Given the description of an element on the screen output the (x, y) to click on. 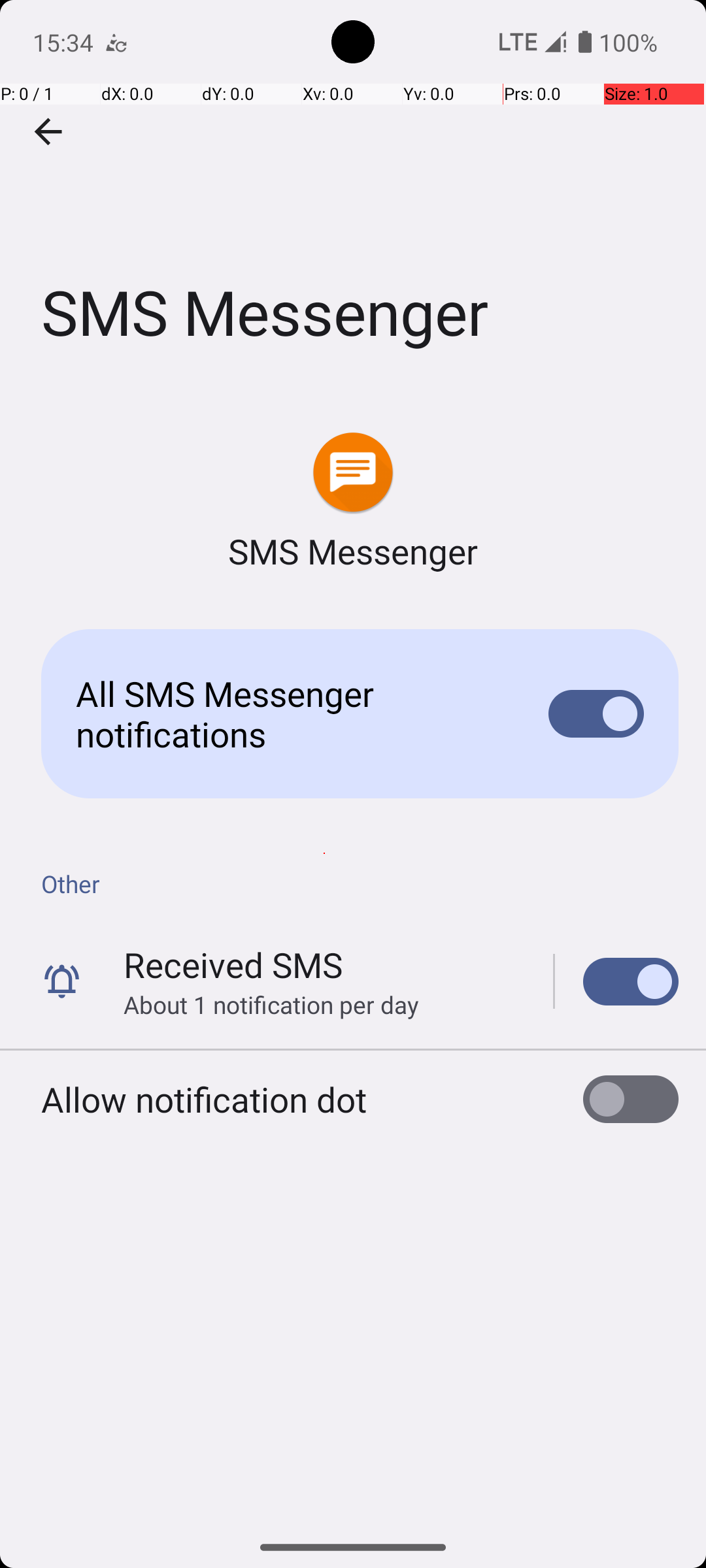
All SMS Messenger notifications Element type: android.widget.TextView (291, 713)
Received SMS Element type: android.widget.TextView (232, 964)
About 1 notification per day Element type: android.widget.TextView (271, 1004)
